Given the description of an element on the screen output the (x, y) to click on. 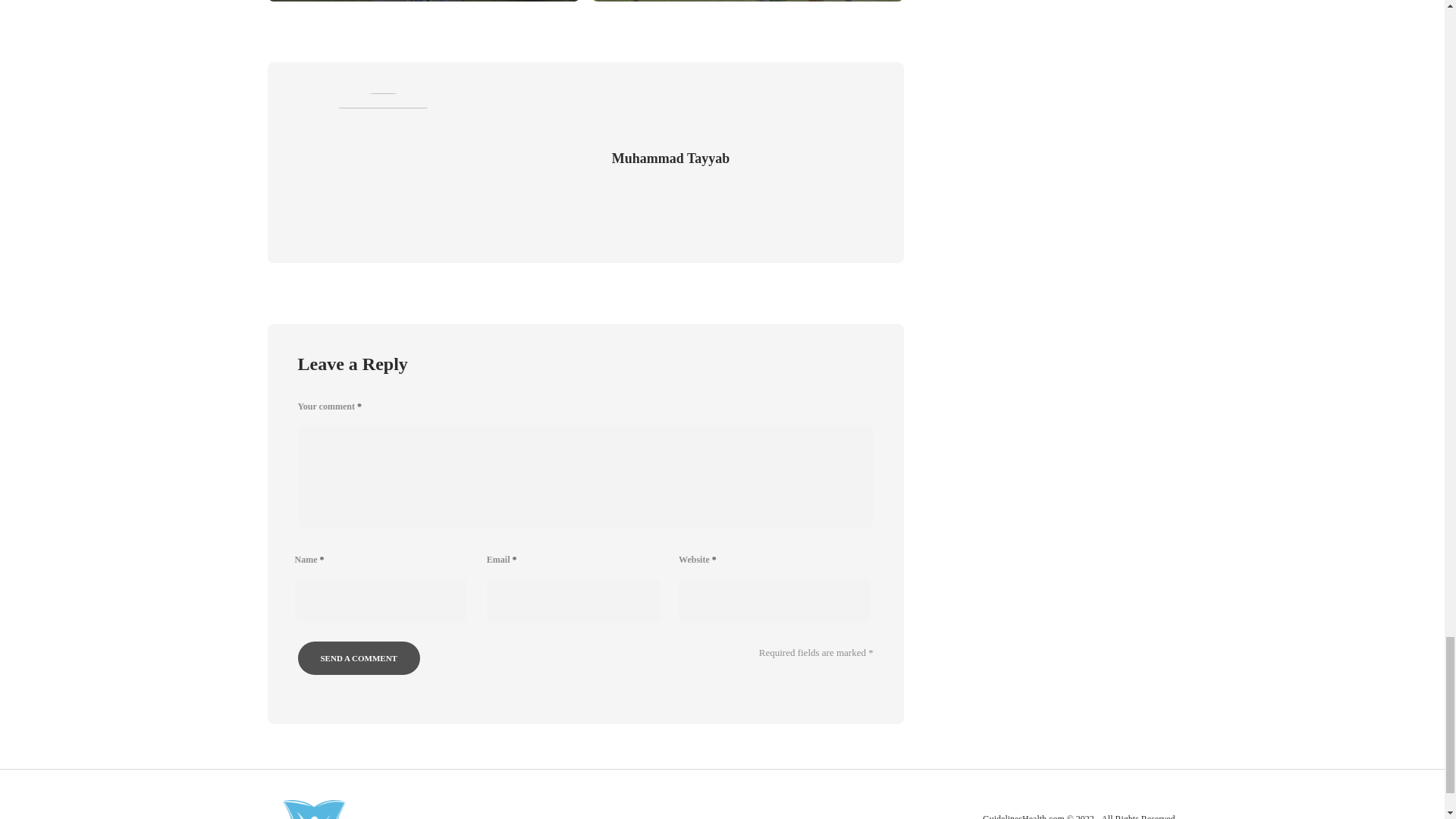
Send a comment (358, 657)
